Given the description of an element on the screen output the (x, y) to click on. 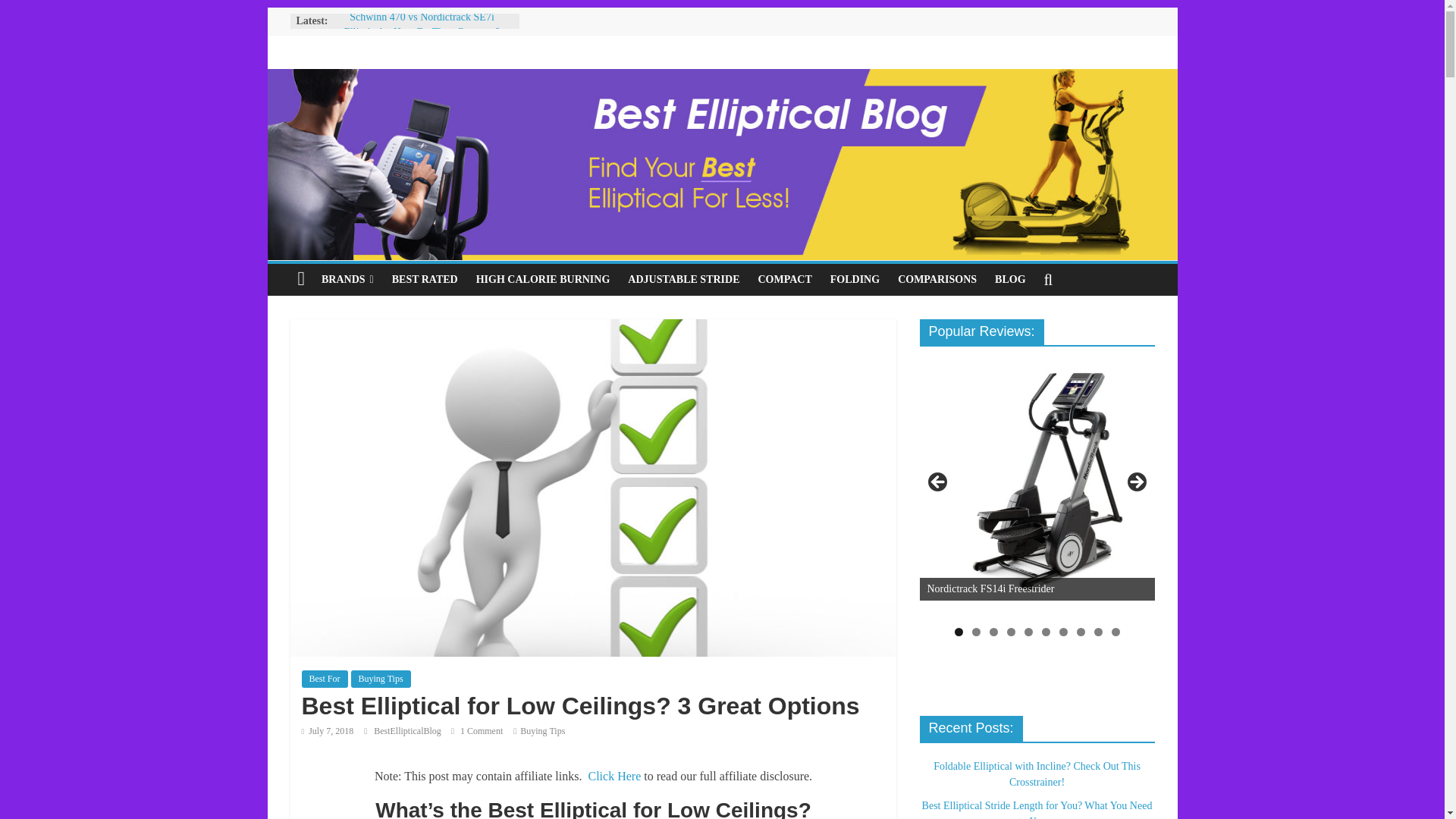
ADJUSTABLE STRIDE (683, 279)
5:17 PM (327, 730)
1 Comment (476, 730)
BestEllipticalBlog (409, 730)
Buying Tips (541, 730)
BestEllipticalBlog (409, 730)
BEST RATED (424, 279)
BLOG (1009, 279)
COMPARISONS (936, 279)
HIGH CALORIE BURNING (543, 279)
Best For (324, 678)
Buying Tips (380, 678)
COMPACT (784, 279)
July 7, 2018 (327, 730)
